Given the description of an element on the screen output the (x, y) to click on. 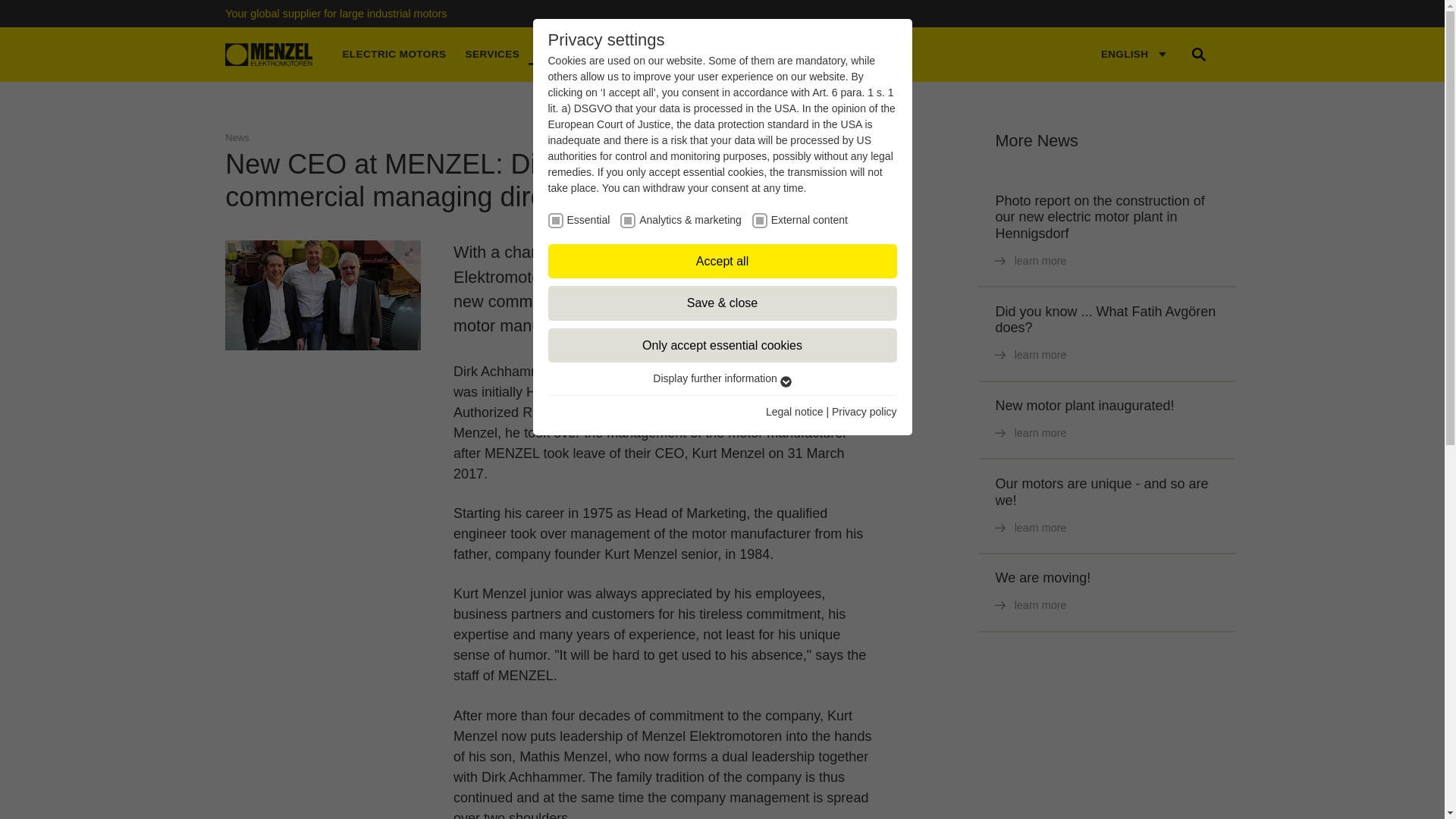
Home (269, 54)
SERVICES (492, 54)
ELECTRIC MOTORS (394, 54)
